Given the description of an element on the screen output the (x, y) to click on. 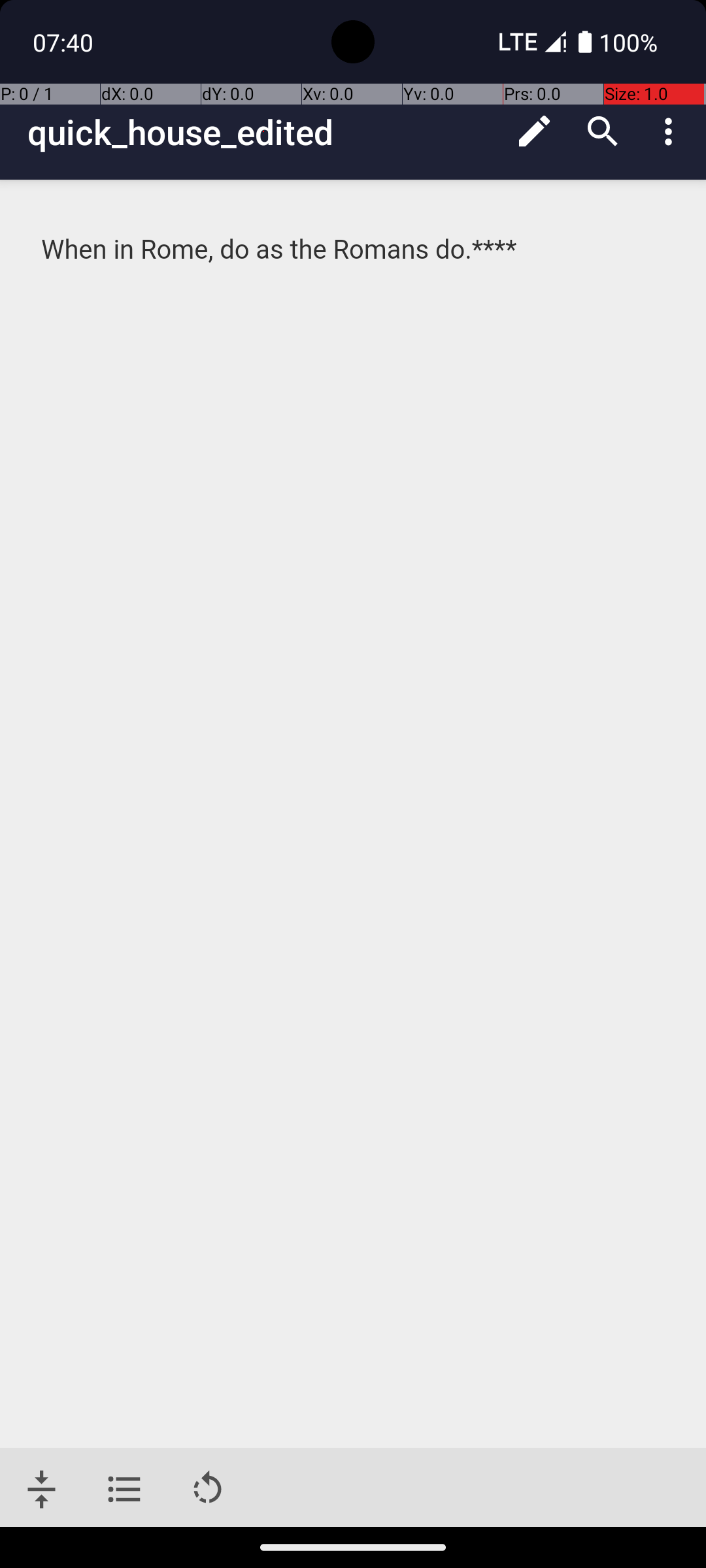
quick_house_edited Element type: android.widget.TextView (263, 131)
When in Rome, do as the Romans do.**** Element type: android.widget.TextView (354, 249)
07:40 Element type: android.widget.TextView (64, 41)
